Given the description of an element on the screen output the (x, y) to click on. 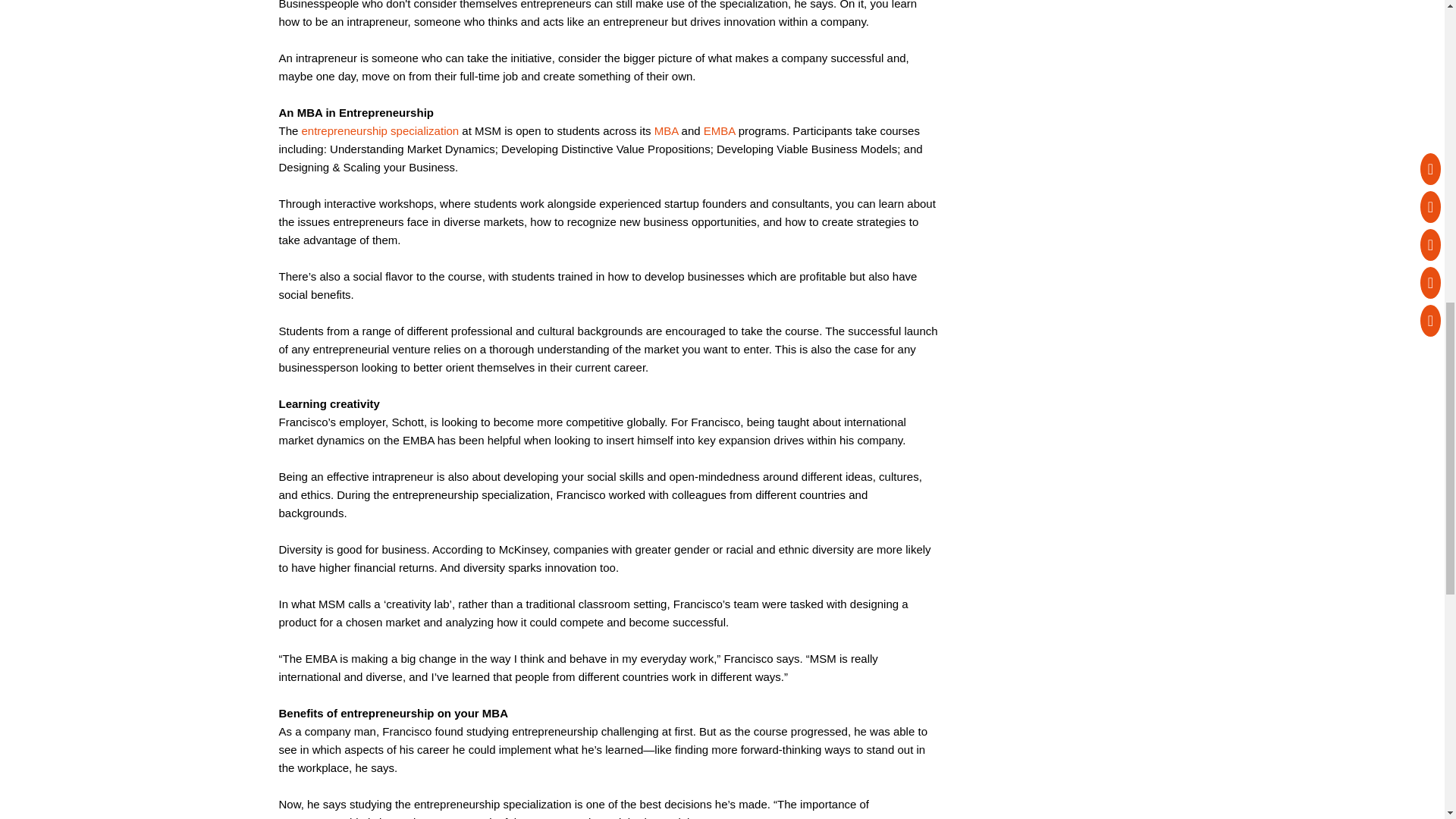
entrepreneurship specialization (380, 130)
EMBA (719, 130)
MBA (665, 130)
